Given the description of an element on the screen output the (x, y) to click on. 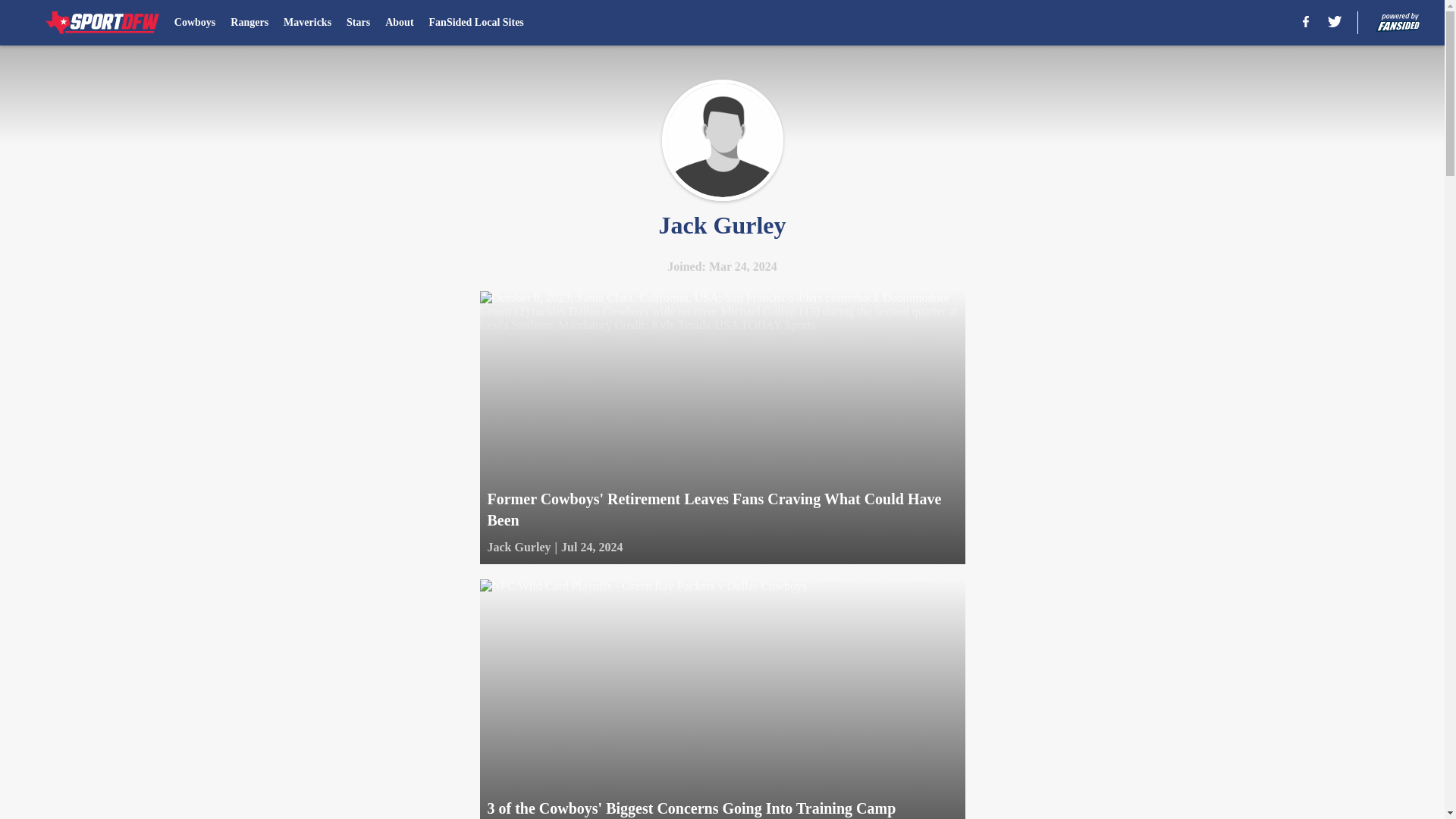
FanSided Local Sites (476, 22)
Jack Gurley (518, 547)
About (399, 22)
Jack Gurley (721, 140)
Rangers (248, 22)
Mavericks (307, 22)
Cowboys (194, 22)
3 of the Cowboys' Biggest Concerns Going Into Training Camp (721, 699)
Stars (357, 22)
